Given the description of an element on the screen output the (x, y) to click on. 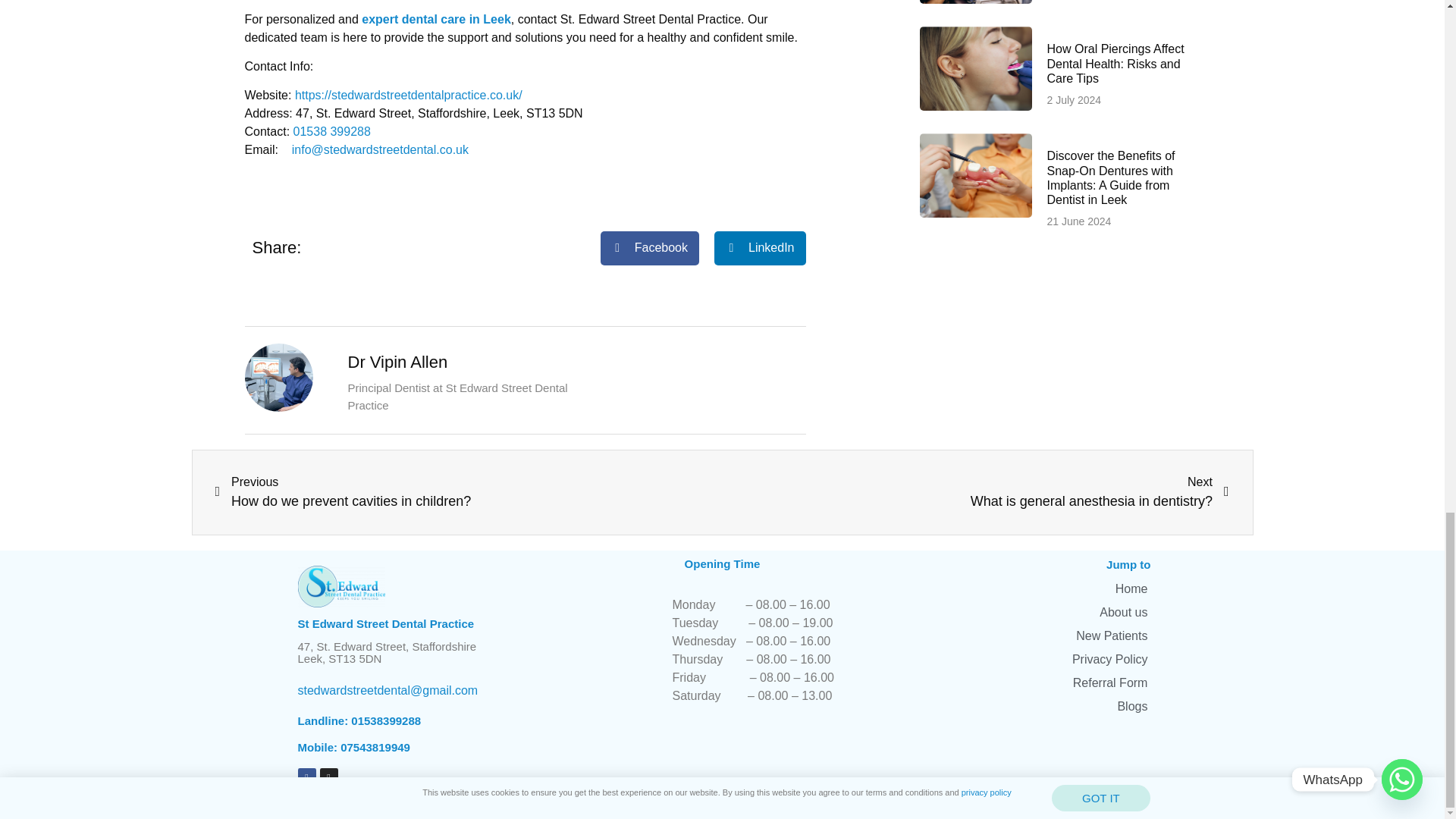
expert dental care in Leek (436, 18)
01538 399288 (332, 131)
St Edward Street Dental Practice (340, 586)
